Given the description of an element on the screen output the (x, y) to click on. 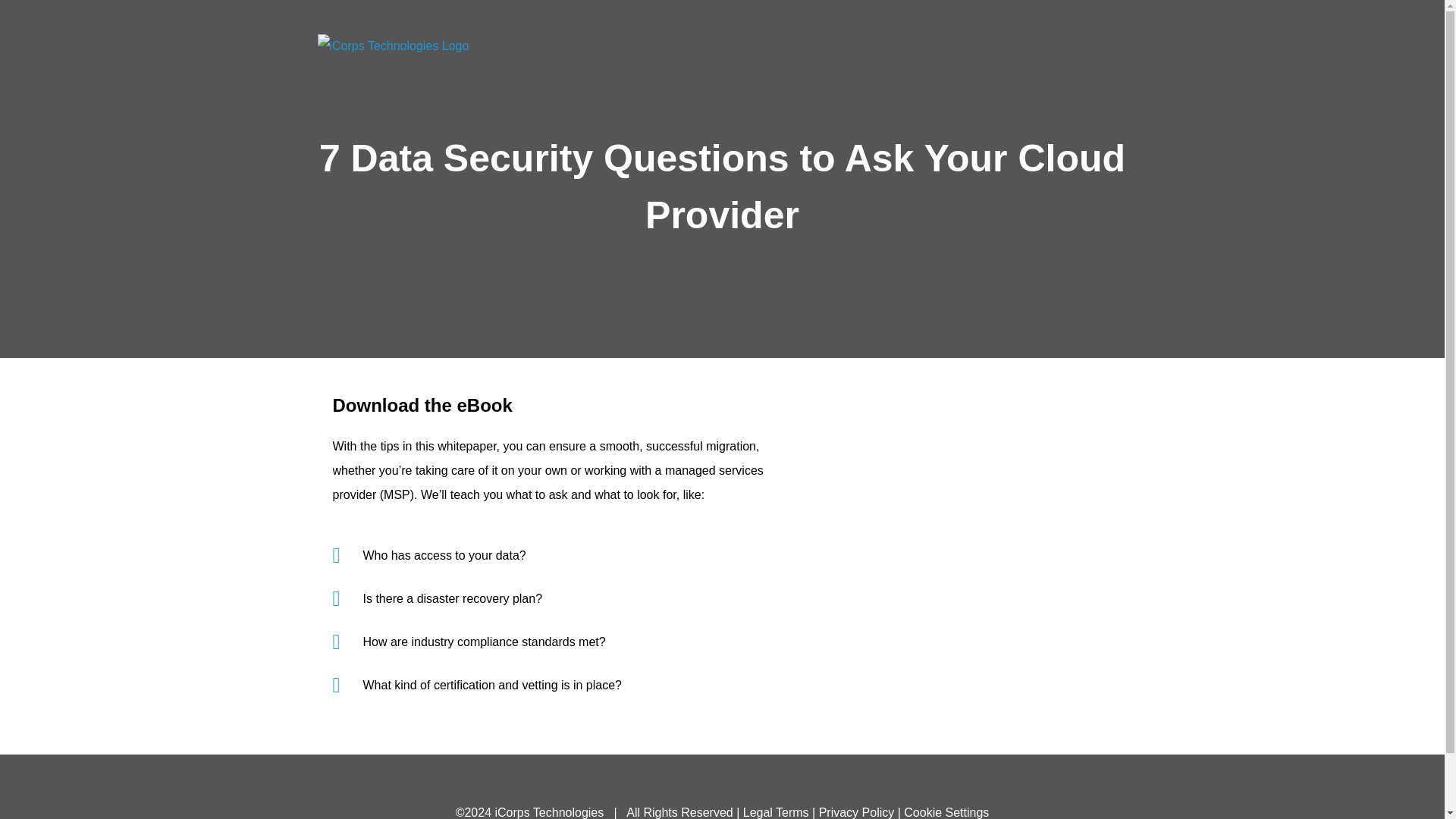
Legal Terms (775, 812)
Cookie Settings (946, 812)
iCorps Technologies Logo (392, 46)
Privacy Policy (856, 812)
